Given the description of an element on the screen output the (x, y) to click on. 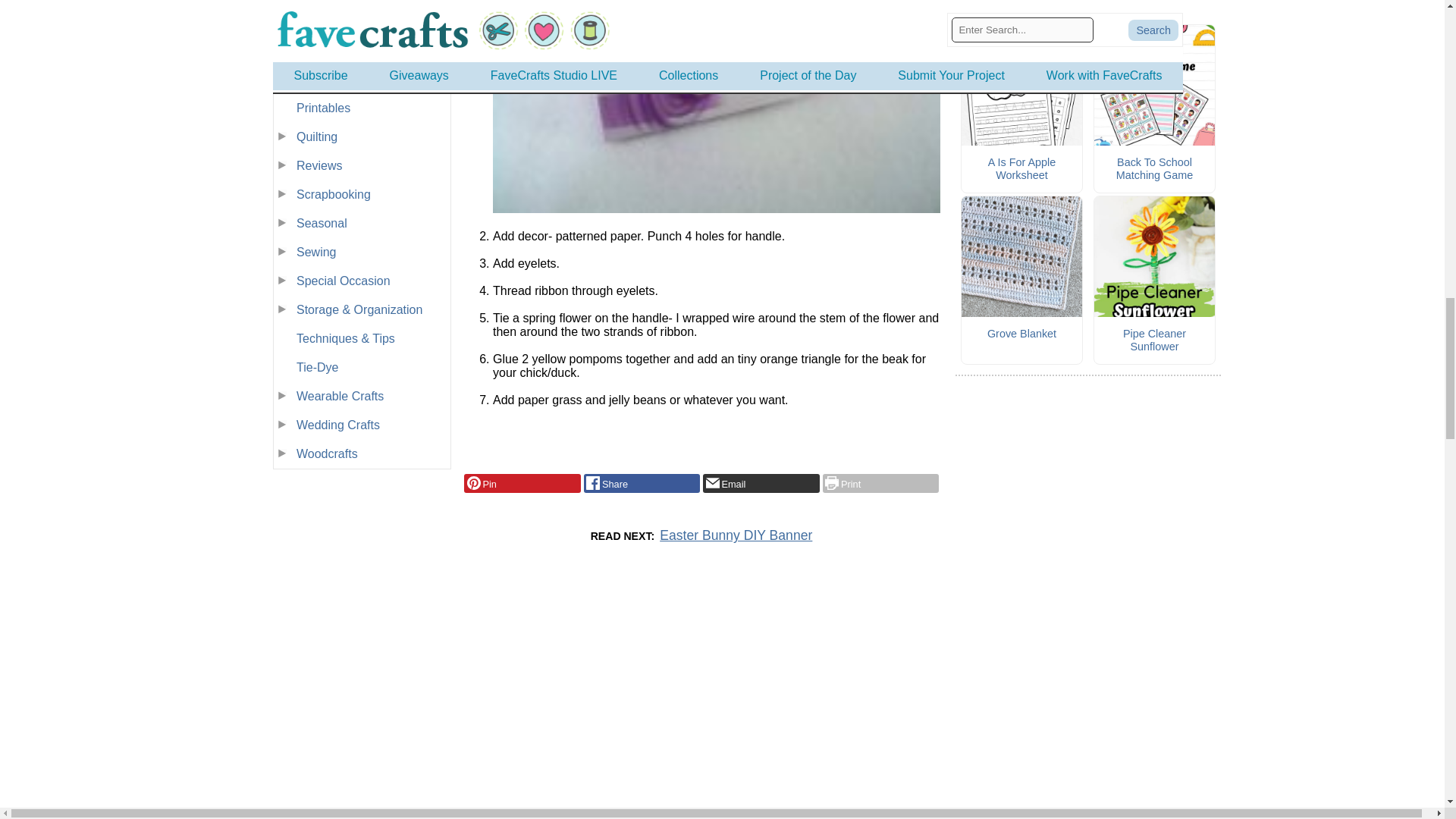
Email (761, 483)
Print (880, 483)
Facebook (641, 483)
Insticator Content Engagement Unit (701, 742)
